Given the description of an element on the screen output the (x, y) to click on. 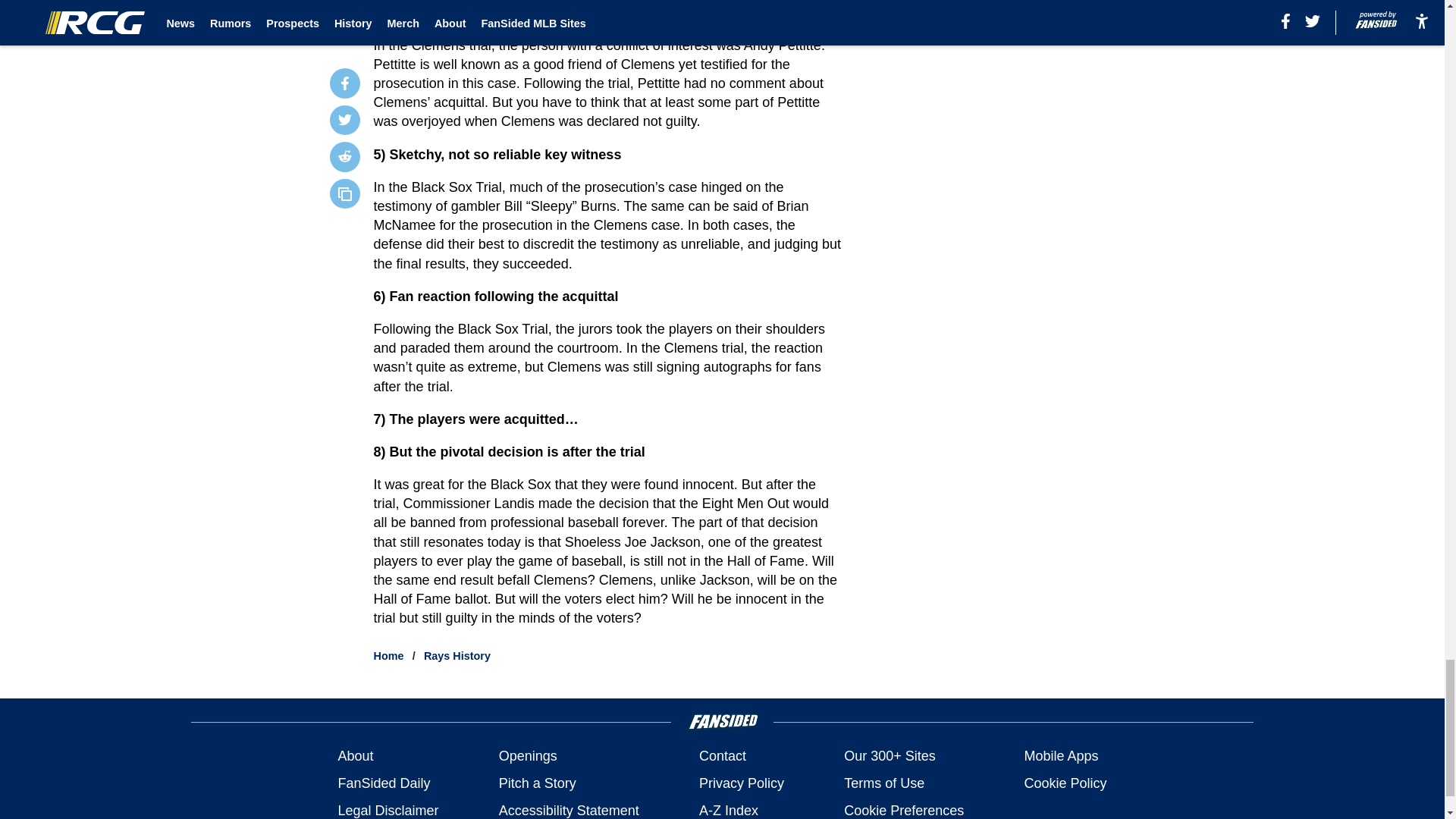
Openings (528, 755)
Rays History (456, 655)
Home (389, 655)
Contact (721, 755)
Mobile Apps (1060, 755)
About (354, 755)
FanSided Daily (383, 783)
